Given the description of an element on the screen output the (x, y) to click on. 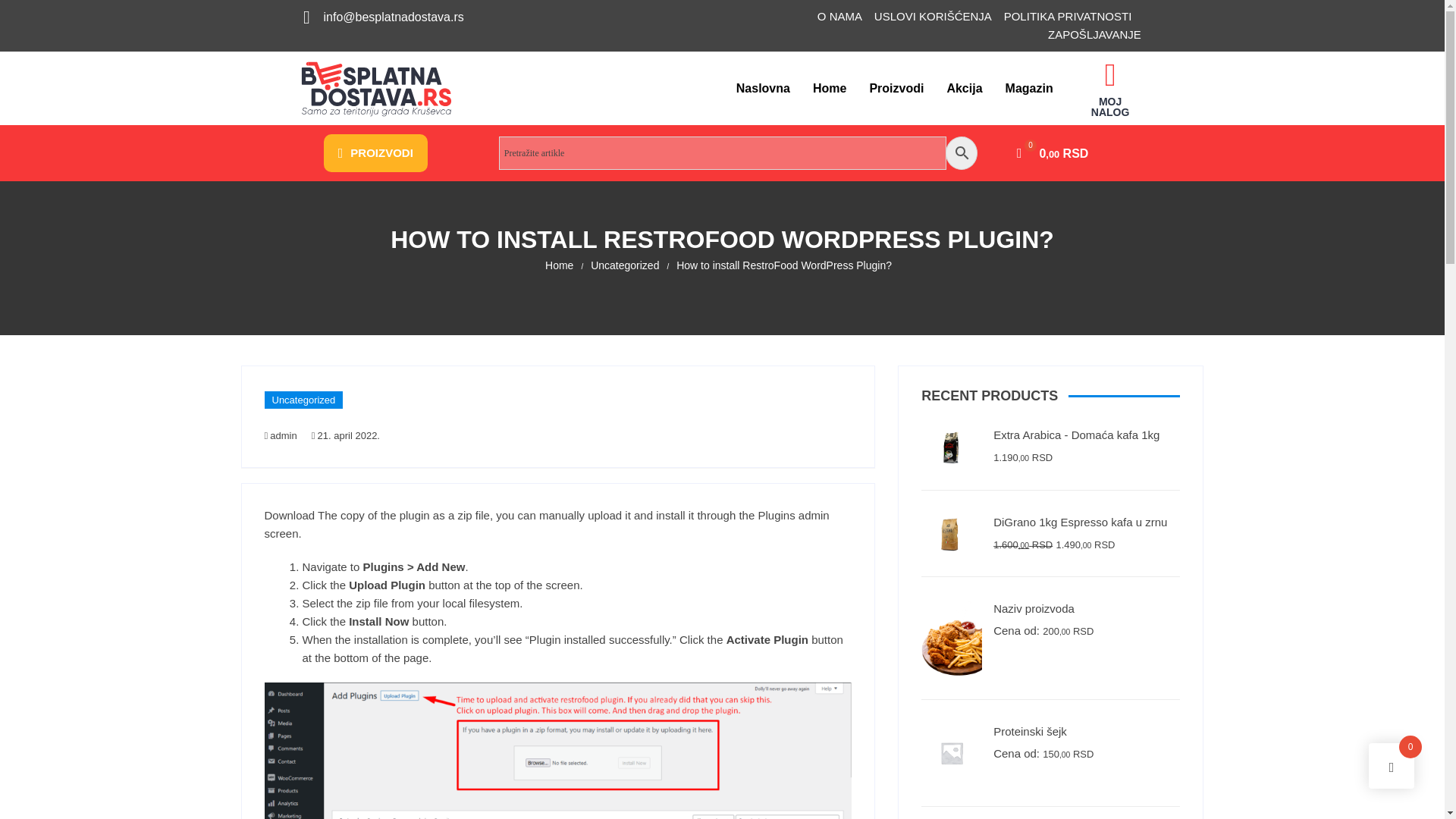
Uncategorized (625, 265)
Home (558, 265)
Naslovna (763, 88)
Naziv proizvoda (1050, 608)
0,00 RSD (1051, 153)
Uncategorized (302, 399)
Magazin (1029, 88)
DiGrano 1kg Espresso kafa u zrnu (1050, 522)
21. april 2022. (345, 436)
Proizvodi (895, 88)
Akcija (963, 88)
Home (829, 88)
How to install RestroFood WordPress Plugin? (784, 265)
admin (285, 436)
